Given the description of an element on the screen output the (x, y) to click on. 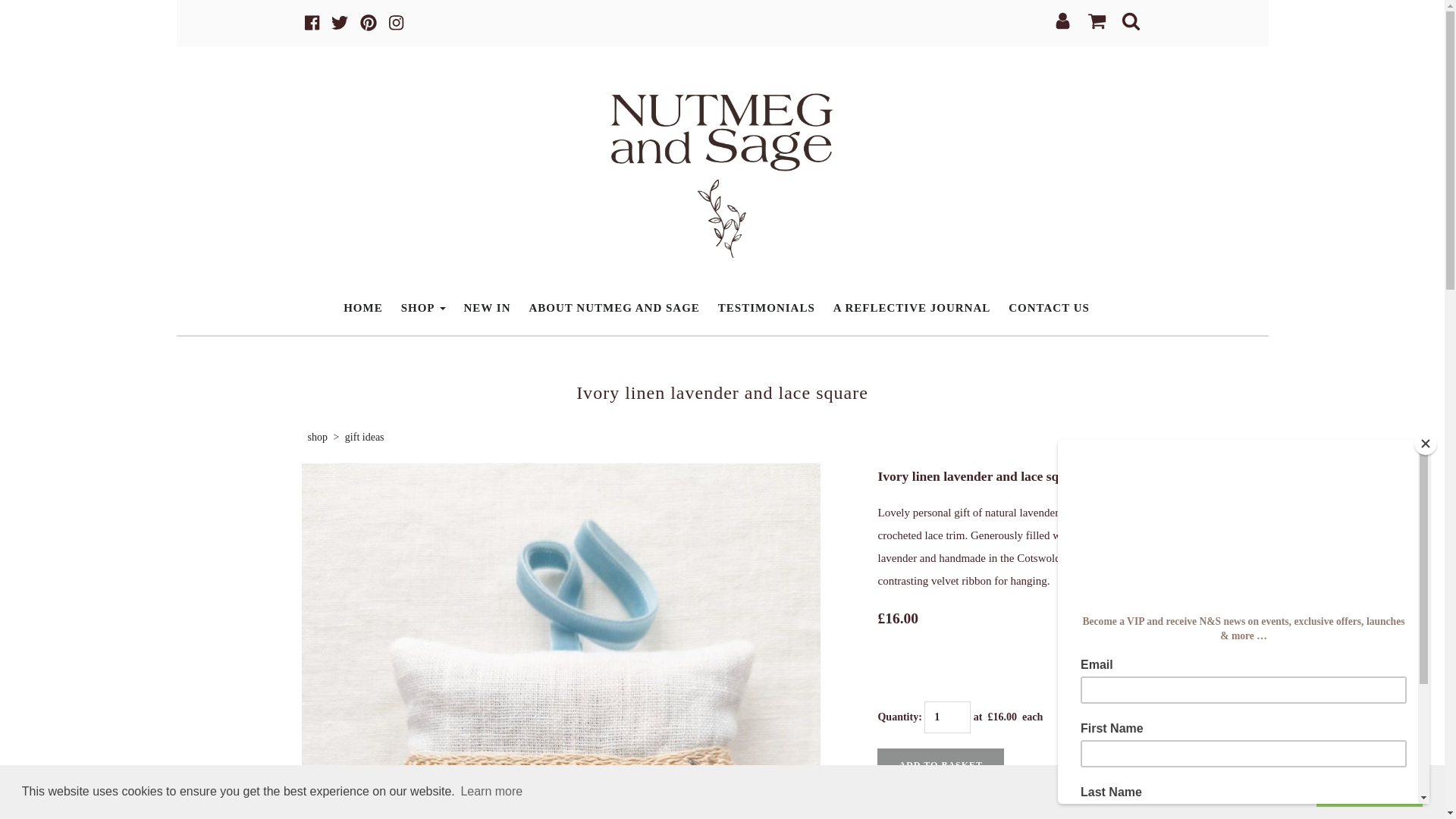
pinterest (368, 22)
Got it! (1369, 791)
twitter (339, 22)
pinterest (368, 22)
Learn more (491, 791)
twitter (339, 22)
facebook (311, 22)
SHOP (422, 307)
instagram (395, 22)
twitter (339, 22)
HOME (362, 307)
1 (947, 717)
pinterest (368, 22)
